Given the description of an element on the screen output the (x, y) to click on. 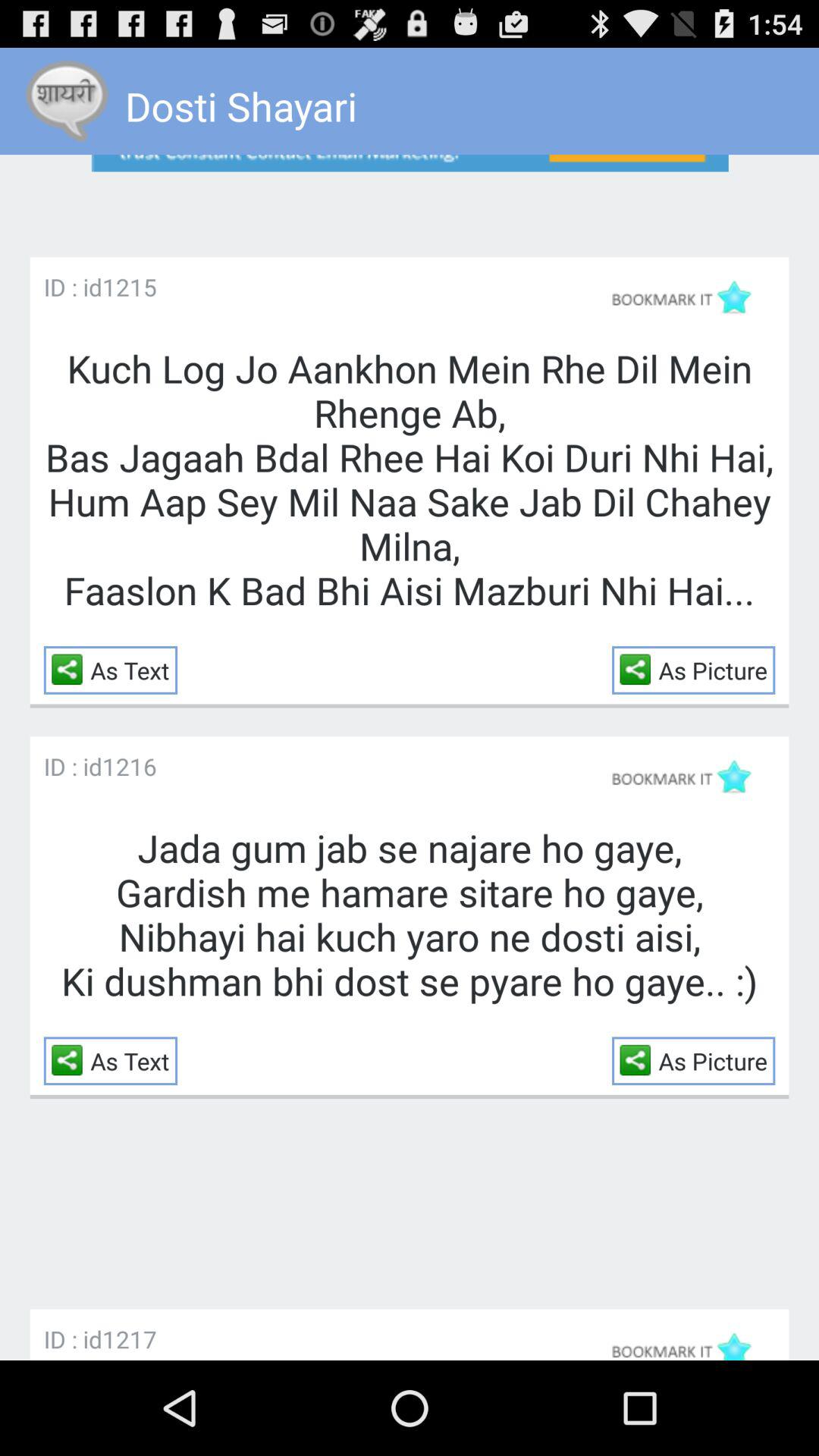
tap item next to the id : id (129, 766)
